Given the description of an element on the screen output the (x, y) to click on. 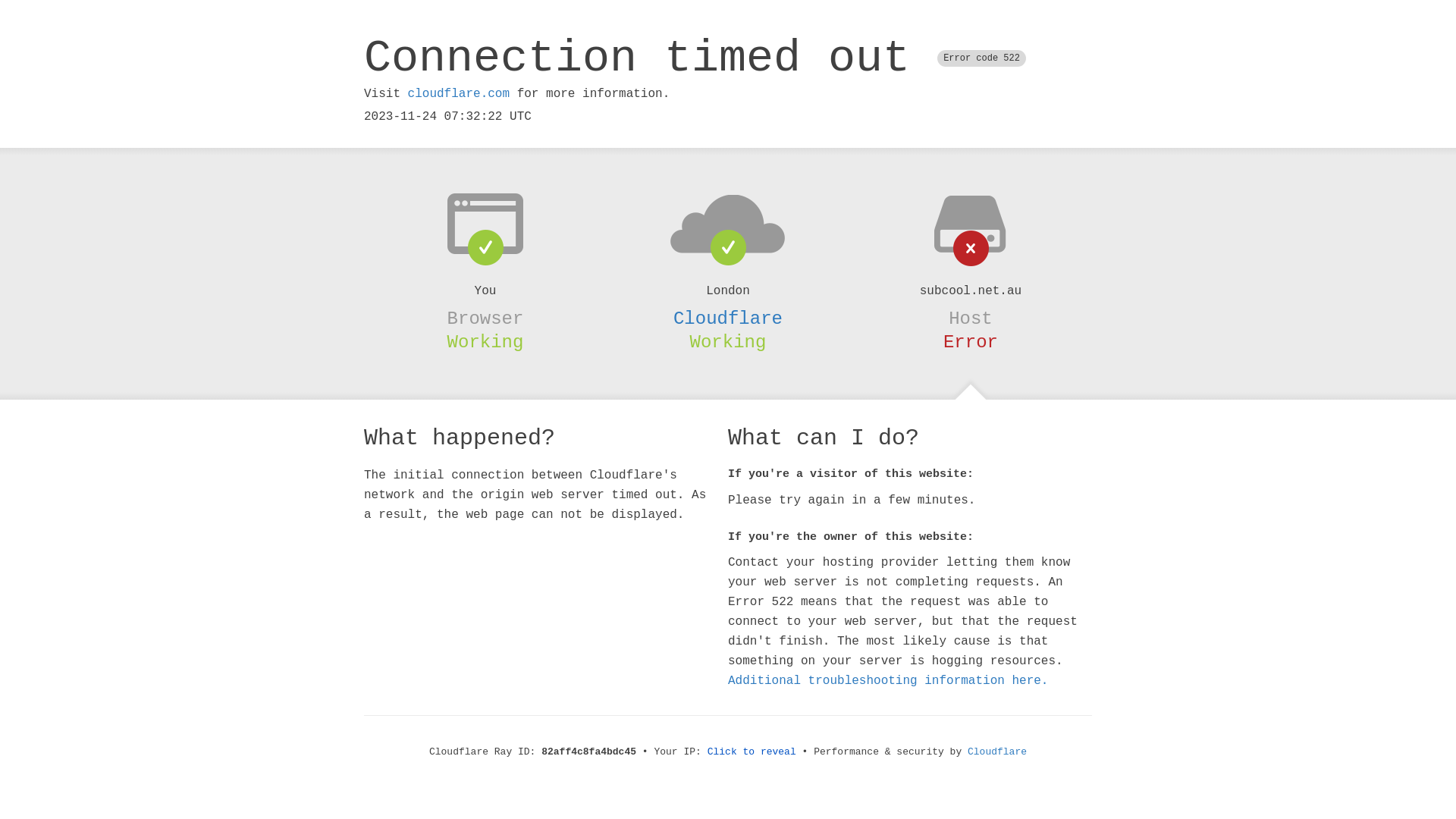
Click to reveal Element type: text (751, 751)
Cloudflare Element type: text (996, 751)
Cloudflare Element type: text (727, 318)
Additional troubleshooting information here. Element type: text (888, 680)
cloudflare.com Element type: text (458, 93)
